Given the description of an element on the screen output the (x, y) to click on. 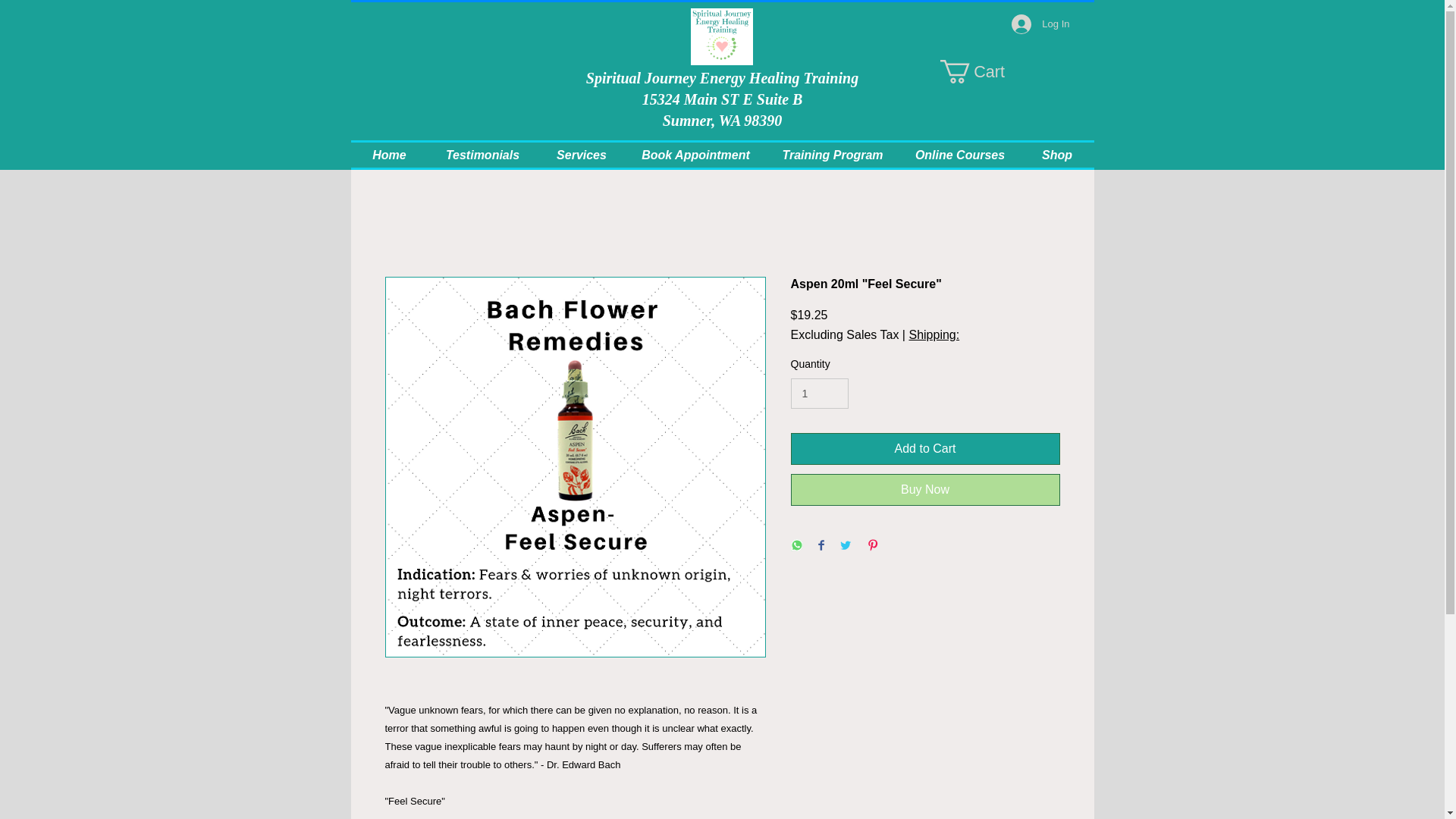
Testimonials (482, 154)
Shipping: (933, 335)
Log In (1040, 23)
1 (818, 393)
Home (389, 154)
Book Appointment (695, 154)
Add to Cart (924, 449)
Online Courses (959, 154)
Cart (986, 71)
Buy Now (924, 490)
